Given the description of an element on the screen output the (x, y) to click on. 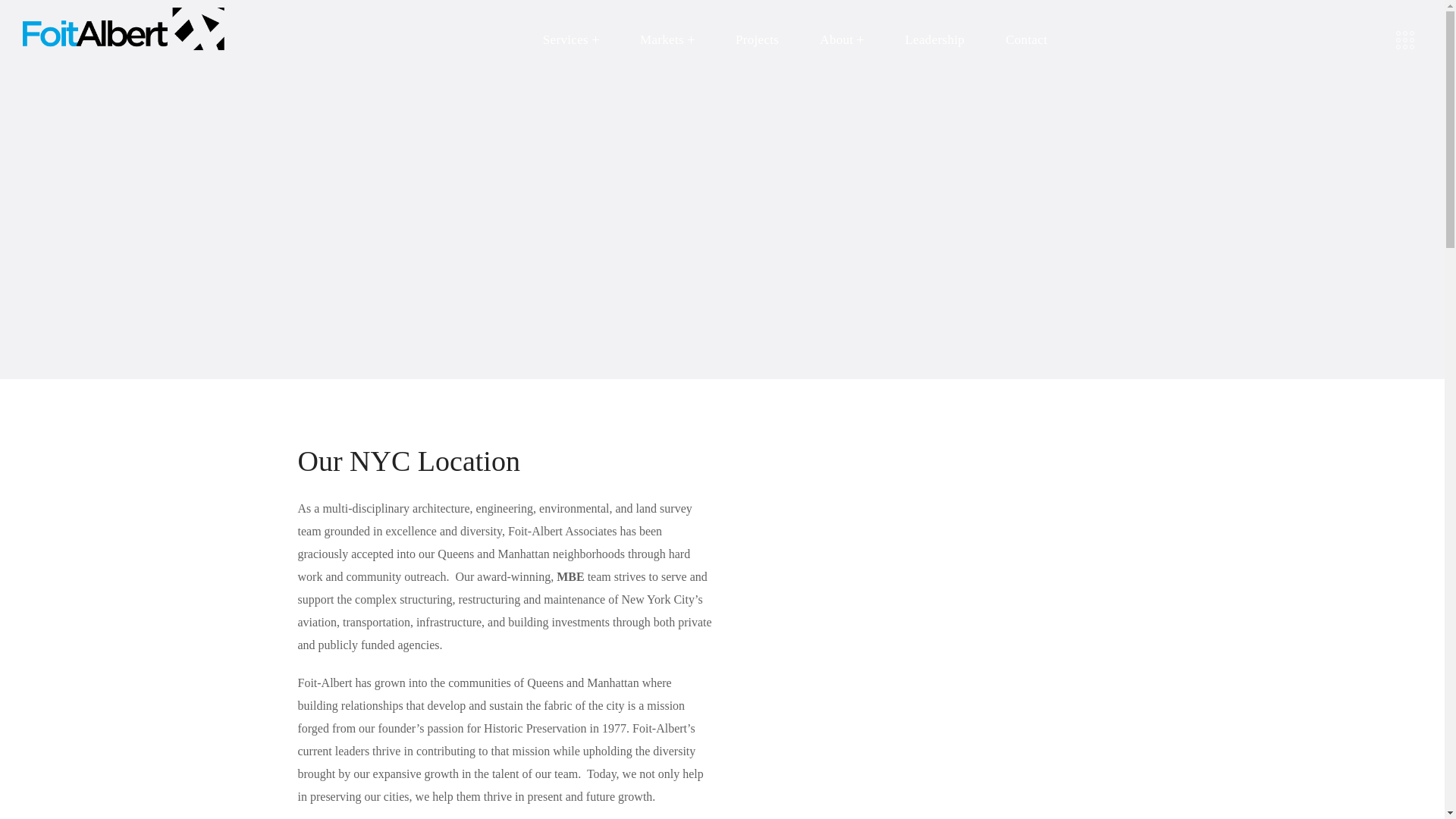
Projects (756, 39)
Markets (667, 39)
Leadership (934, 39)
Services (571, 39)
Contact (1026, 39)
About (841, 39)
